Given the description of an element on the screen output the (x, y) to click on. 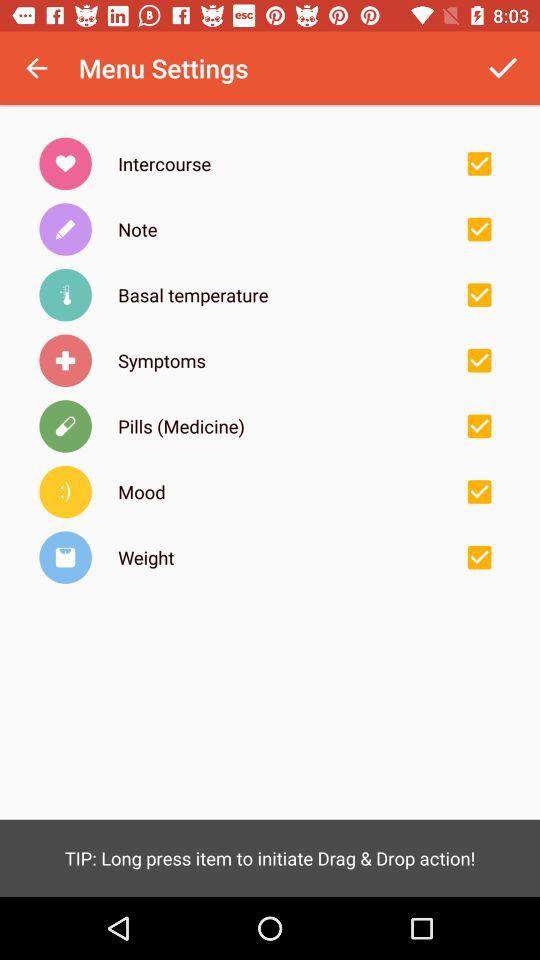
check/uncheck option (479, 557)
